Given the description of an element on the screen output the (x, y) to click on. 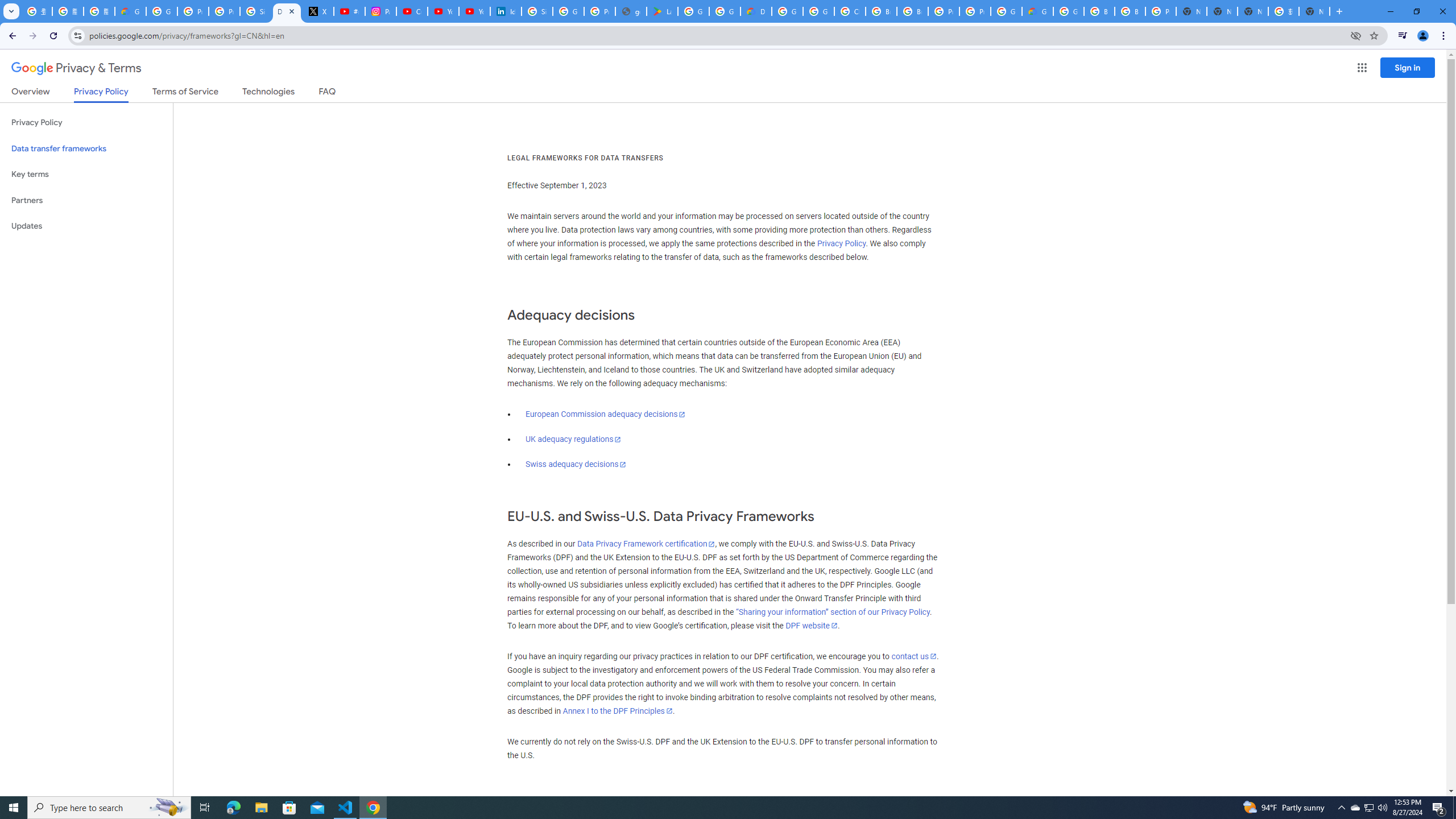
contact us (913, 656)
UK adequacy regulations (573, 439)
